Given the description of an element on the screen output the (x, y) to click on. 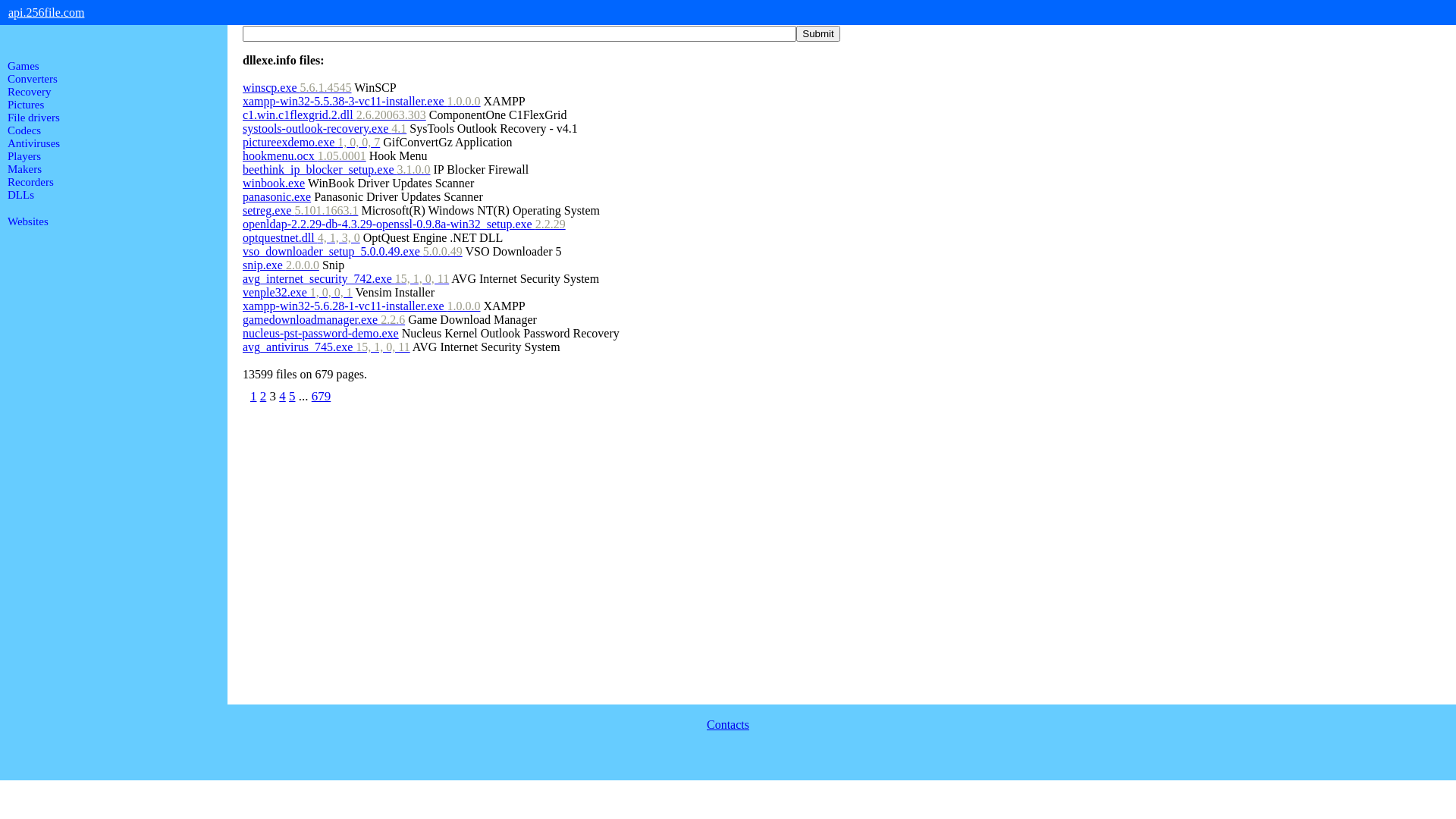
Recorders Element type: text (30, 181)
Converters Element type: text (32, 78)
5 Element type: text (291, 396)
gamedownloadmanager.exe 2.2.6 Element type: text (323, 319)
4 Element type: text (282, 396)
panasonic.exe Element type: text (276, 196)
xampp-win32-5.6.28-1-vc11-installer.exe 1.0.0.0 Element type: text (361, 305)
Advertisement Element type: hover (113, 468)
winbook.exe Element type: text (273, 182)
Websites Element type: text (27, 221)
winscp.exe 5.6.1.4545 Element type: text (296, 87)
Pictures Element type: text (25, 104)
xampp-win32-5.5.38-3-vc11-installer.exe 1.0.0.0 Element type: text (361, 100)
c1.win.c1flexgrid.2.dll 2.6.20063.303 Element type: text (334, 114)
systools-outlook-recovery.exe 4.1 Element type: text (324, 128)
Contacts Element type: text (727, 724)
DLLs Element type: text (20, 194)
Games Element type: text (23, 65)
Antiviruses Element type: text (33, 143)
vso_downloader_setup_5.0.0.49.exe 5.0.0.49 Element type: text (352, 250)
avg_internet_security_742.exe 15, 1, 0, 11 Element type: text (345, 278)
2 Element type: text (263, 396)
setreg.exe 5.101.1663.1 Element type: text (299, 209)
optquestnet.dll 4, 1, 3, 0 Element type: text (301, 237)
Players Element type: text (23, 156)
Codecs Element type: text (23, 130)
avg_antivirus_745.exe 15, 1, 0, 11 Element type: text (326, 346)
beethink_ip_blocker_setup.exe 3.1.0.0 Element type: text (336, 169)
File drivers Element type: text (33, 117)
1 Element type: text (253, 396)
snip.exe 2.0.0.0 Element type: text (280, 264)
nucleus-pst-password-demo.exe Element type: text (320, 332)
Makers Element type: text (24, 169)
hookmenu.ocx 1.05.0001 Element type: text (304, 155)
pictureexdemo.exe 1, 0, 0, 7 Element type: text (310, 141)
venple32.exe 1, 0, 0, 1 Element type: text (297, 291)
679 Element type: text (321, 396)
api.256file.com Element type: text (46, 12)
Recovery Element type: text (28, 91)
